Given the description of an element on the screen output the (x, y) to click on. 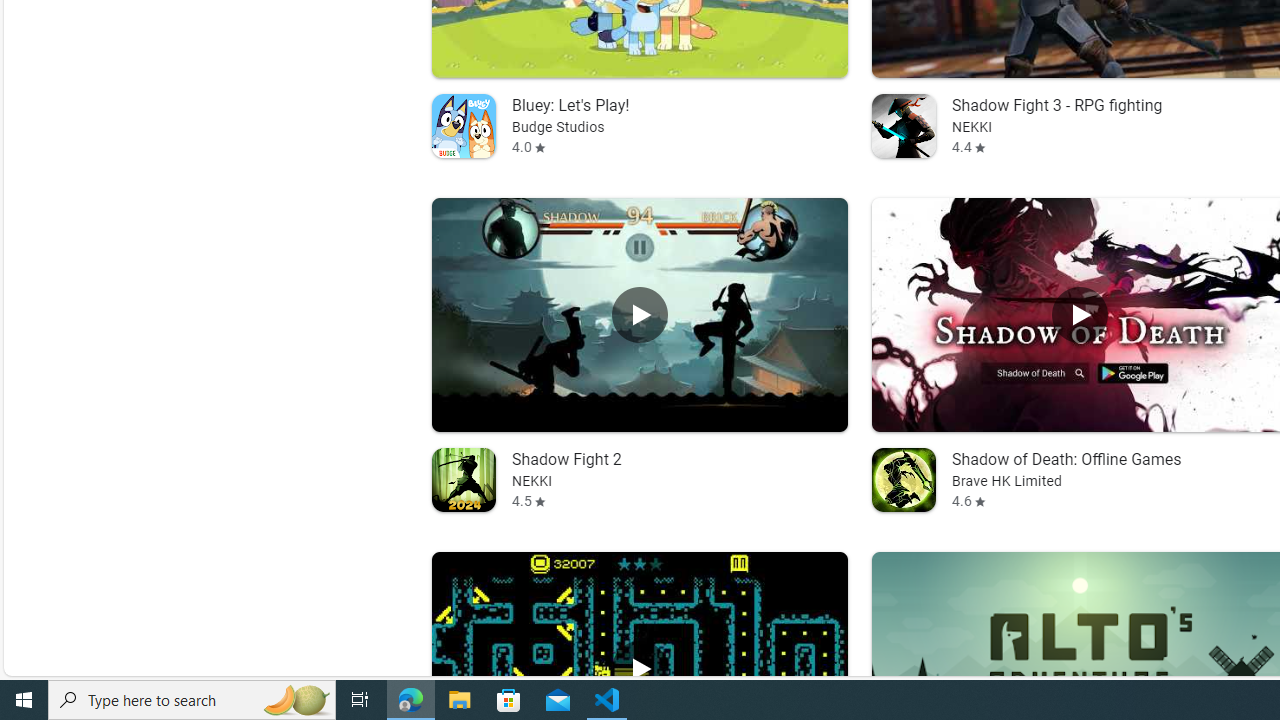
Play Tomb of the Mask (638, 668)
Play Shadow Fight 2 (638, 315)
Play Shadow of Death: Offline Games (1079, 315)
